Given the description of an element on the screen output the (x, y) to click on. 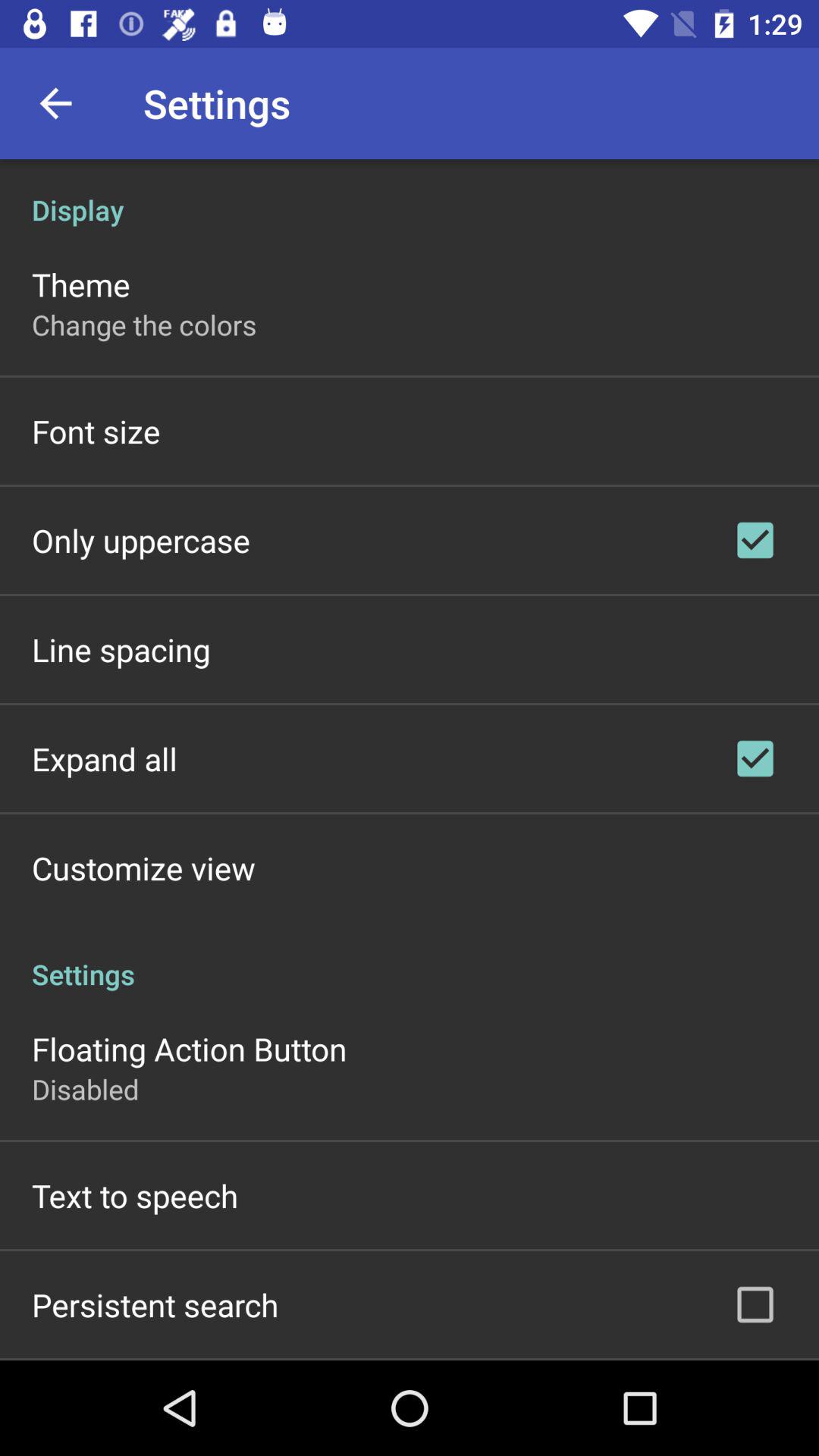
swipe until the font size icon (95, 430)
